Given the description of an element on the screen output the (x, y) to click on. 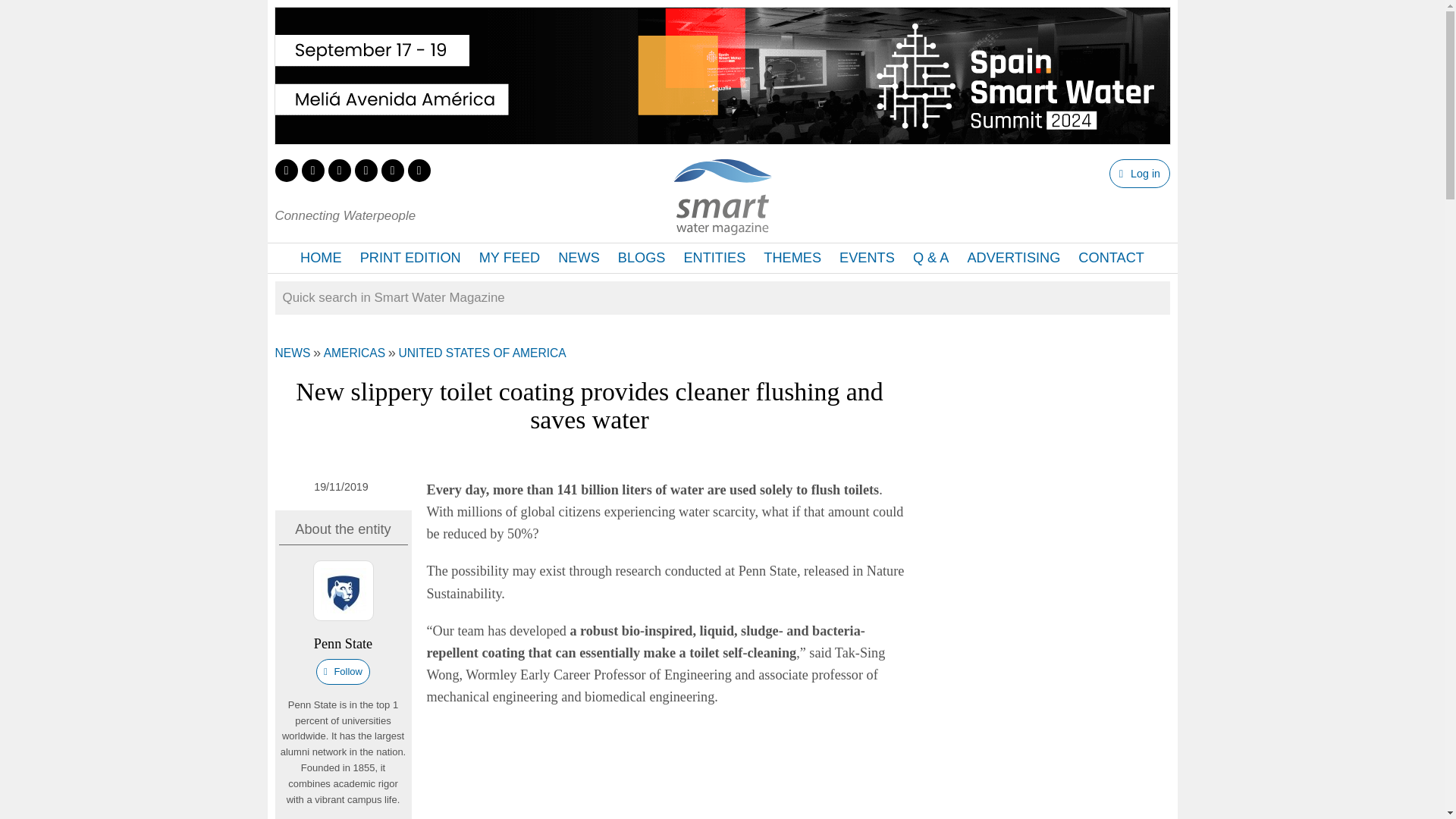
EVENTS (866, 257)
BLOGS (641, 257)
Follow us on Linkedin (338, 169)
CONTACT (1110, 257)
Follow us on Facebook (312, 169)
ADVERTISING (1013, 257)
Follow us on Instagram (366, 169)
NEWS (578, 257)
Skip to main content (677, 1)
Subscribe to our newsletter (418, 169)
